Given the description of an element on the screen output the (x, y) to click on. 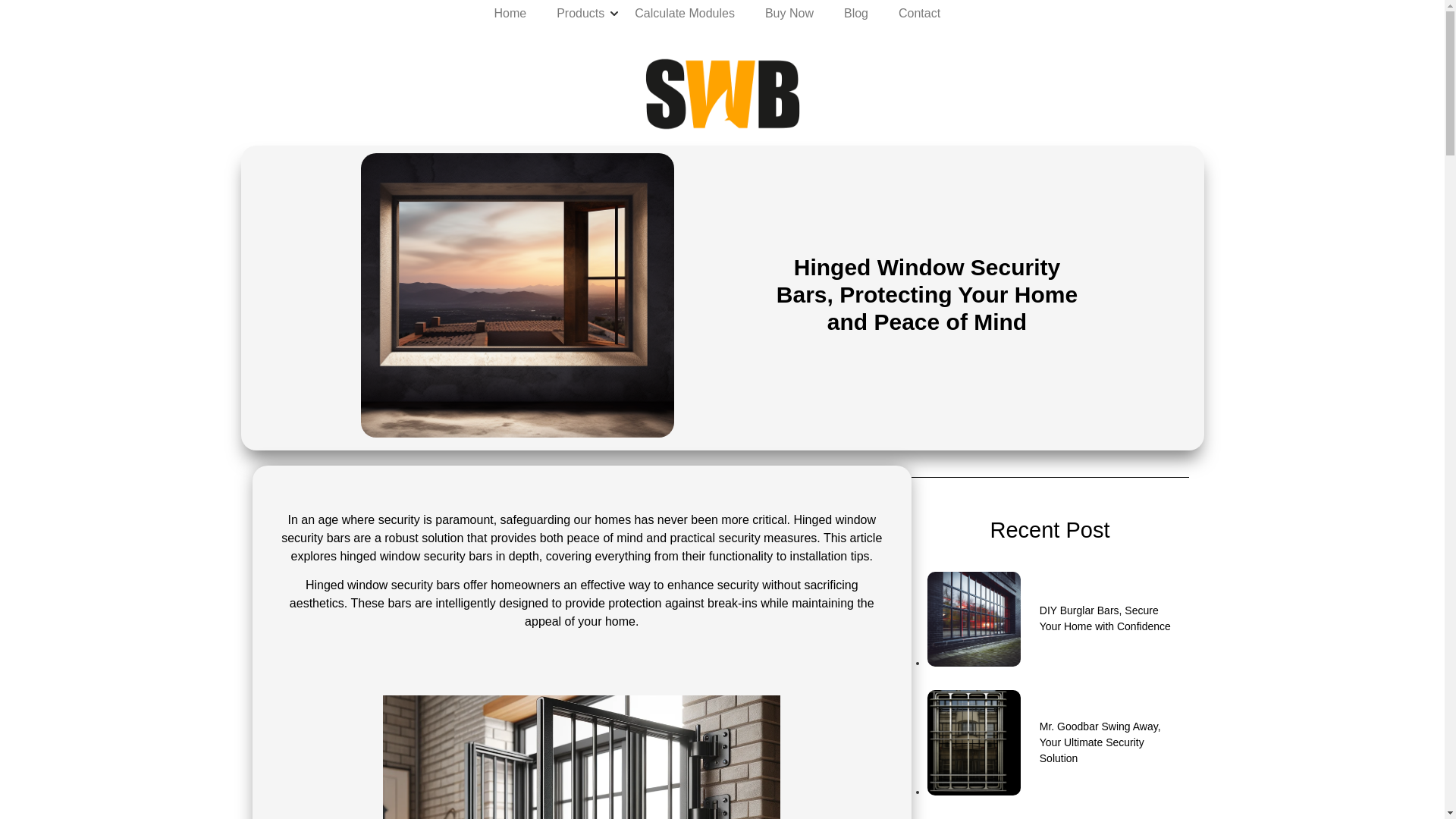
DIY Burglar Bars, Secure Your Home with Confidence (1049, 618)
Home (509, 13)
Products (579, 13)
Buy Now (789, 13)
Blog (855, 13)
Calculate Modules (684, 13)
Mr. Goodbar Swing Away, Your Ultimate Security Solution (1049, 742)
Contact (919, 13)
